Given the description of an element on the screen output the (x, y) to click on. 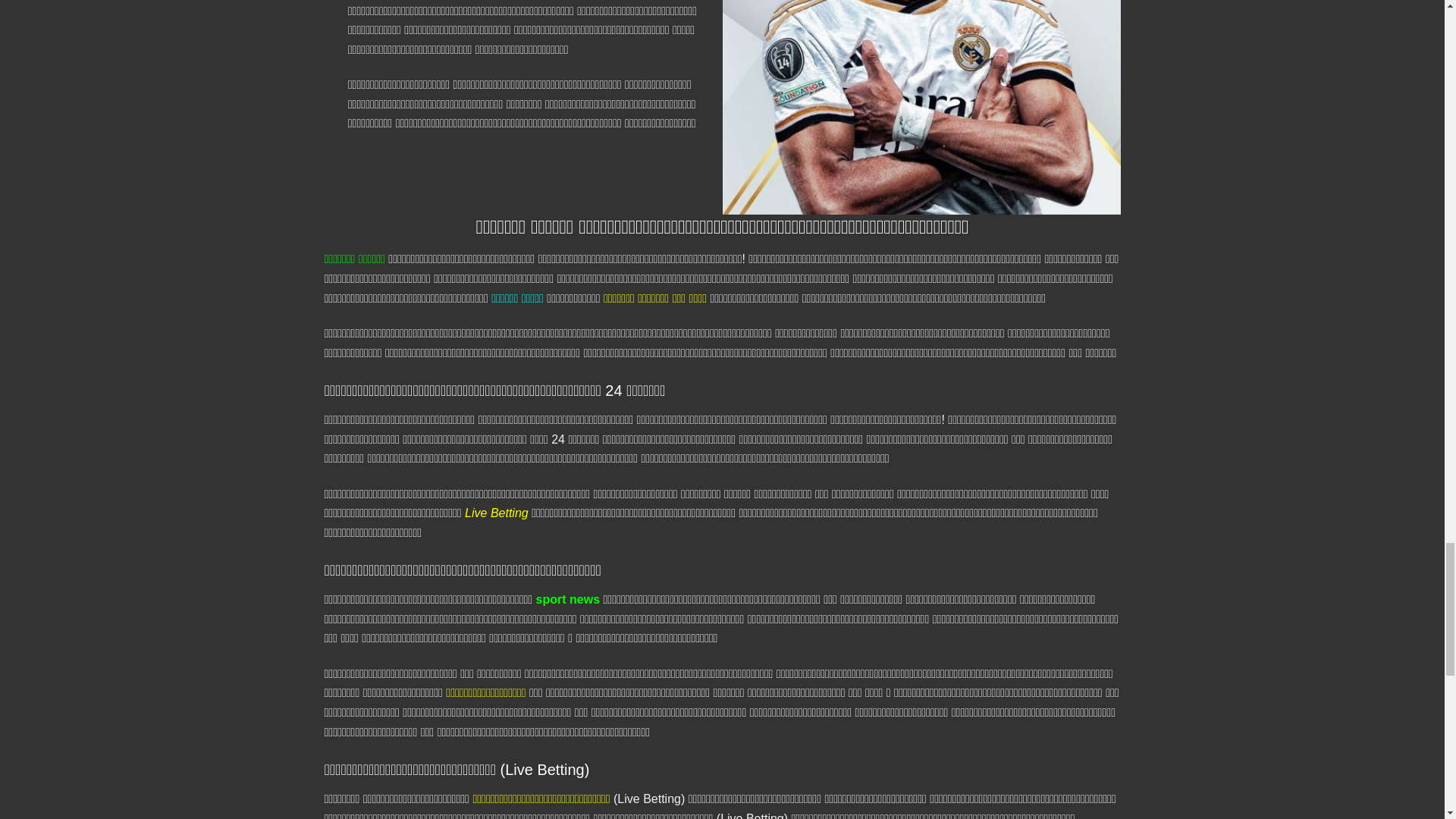
sport news (567, 599)
